Given the description of an element on the screen output the (x, y) to click on. 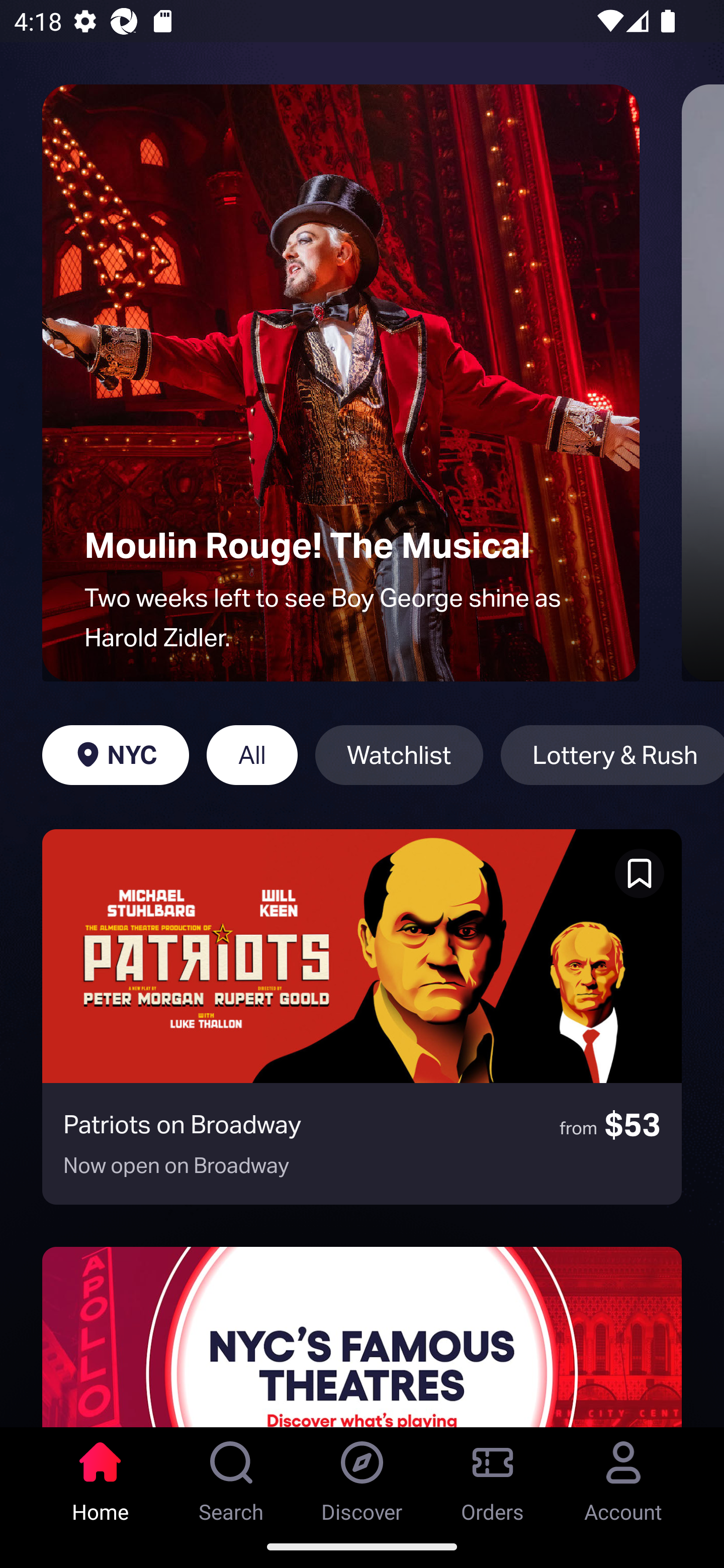
NYC (114, 754)
All (251, 754)
Watchlist (398, 754)
Lottery & Rush (612, 754)
Patriots on Broadway from $53 Now open on Broadway (361, 1016)
Search (230, 1475)
Discover (361, 1475)
Orders (492, 1475)
Account (623, 1475)
